Given the description of an element on the screen output the (x, y) to click on. 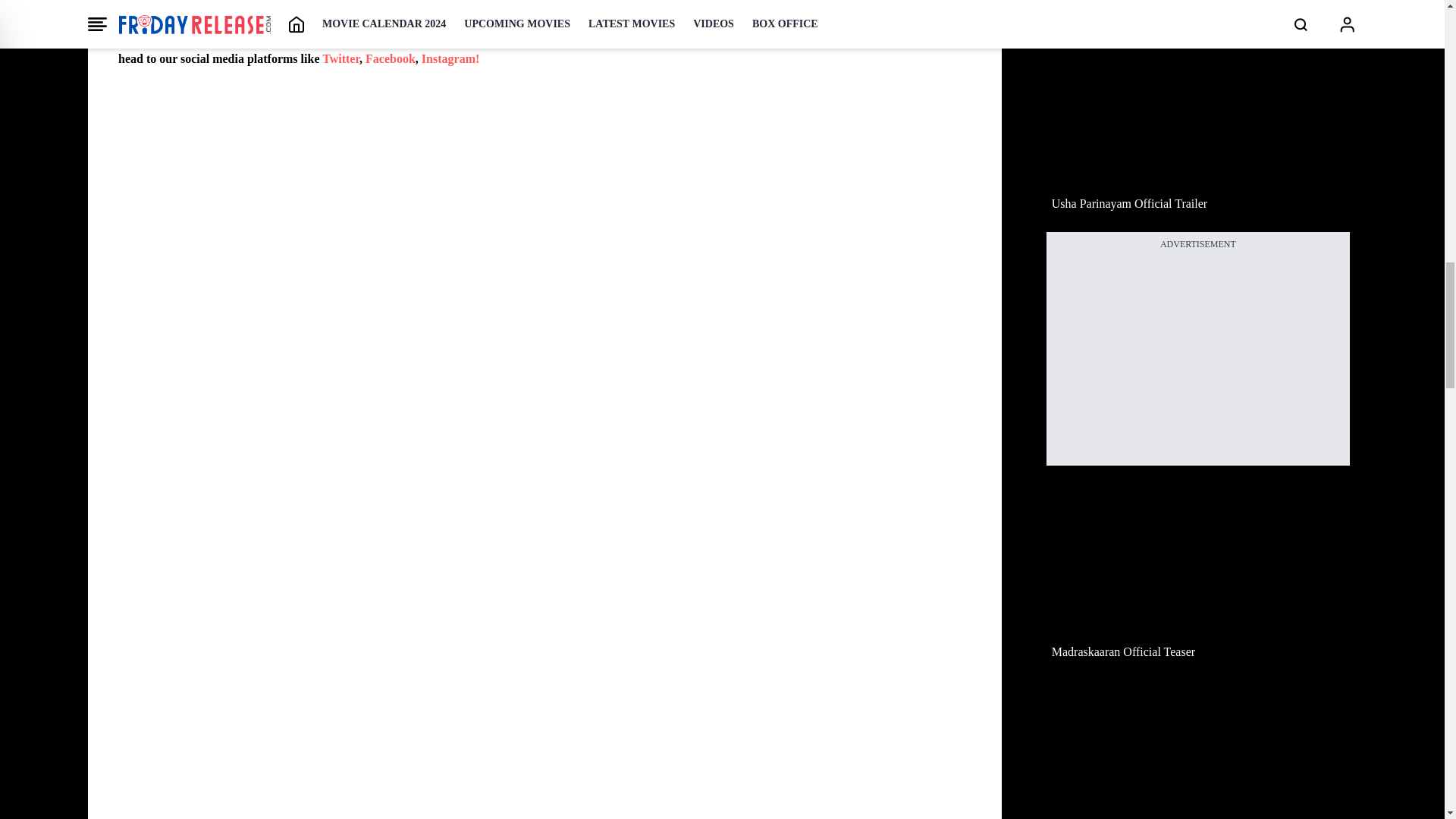
Facebook Page (389, 58)
Twitter Page (340, 58)
Instagram Page (450, 58)
